Given the description of an element on the screen output the (x, y) to click on. 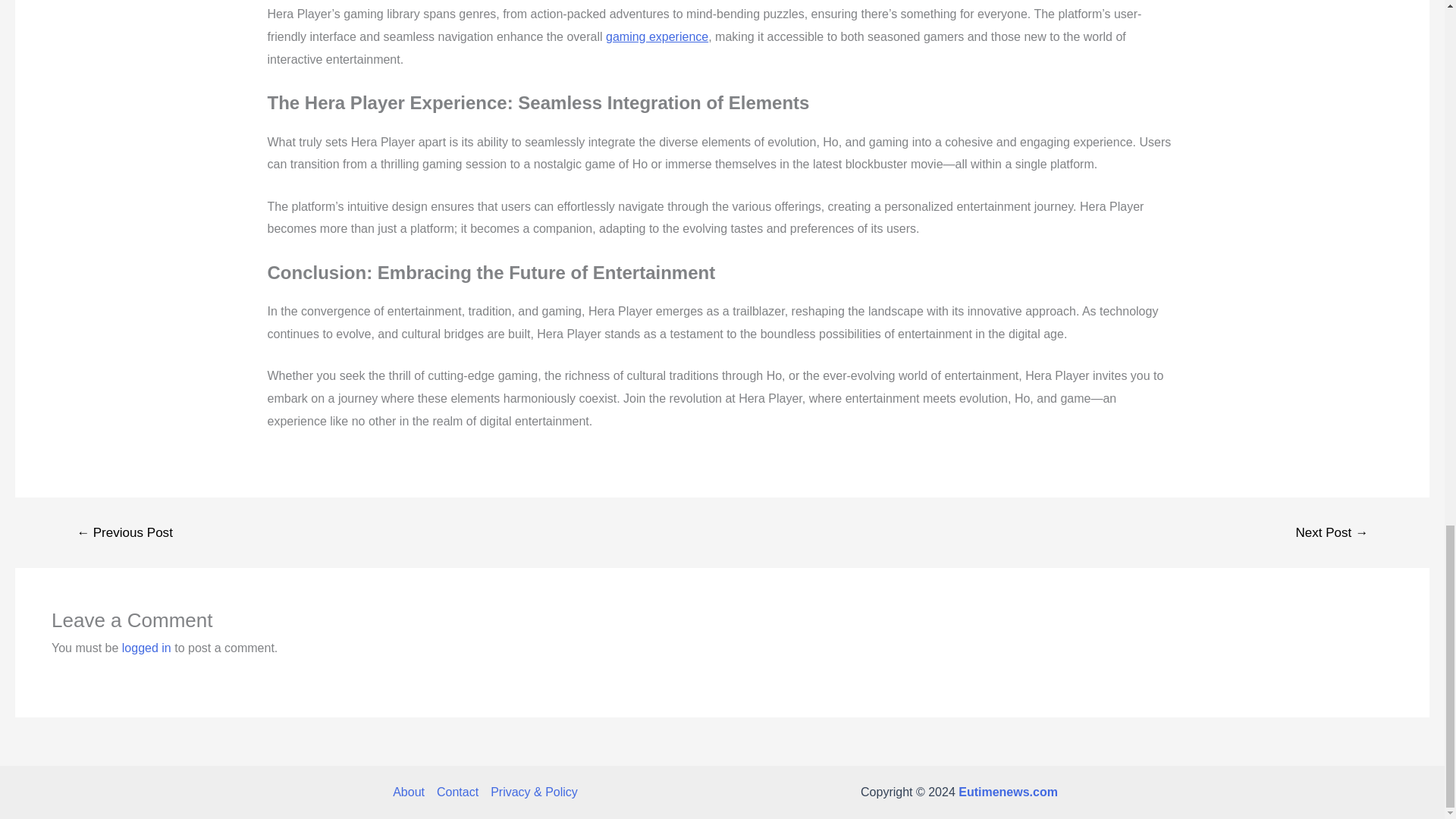
gaming experience (656, 36)
Contact (457, 792)
Eutimenews.com (1008, 791)
About (411, 792)
logged in (146, 647)
